Given the description of an element on the screen output the (x, y) to click on. 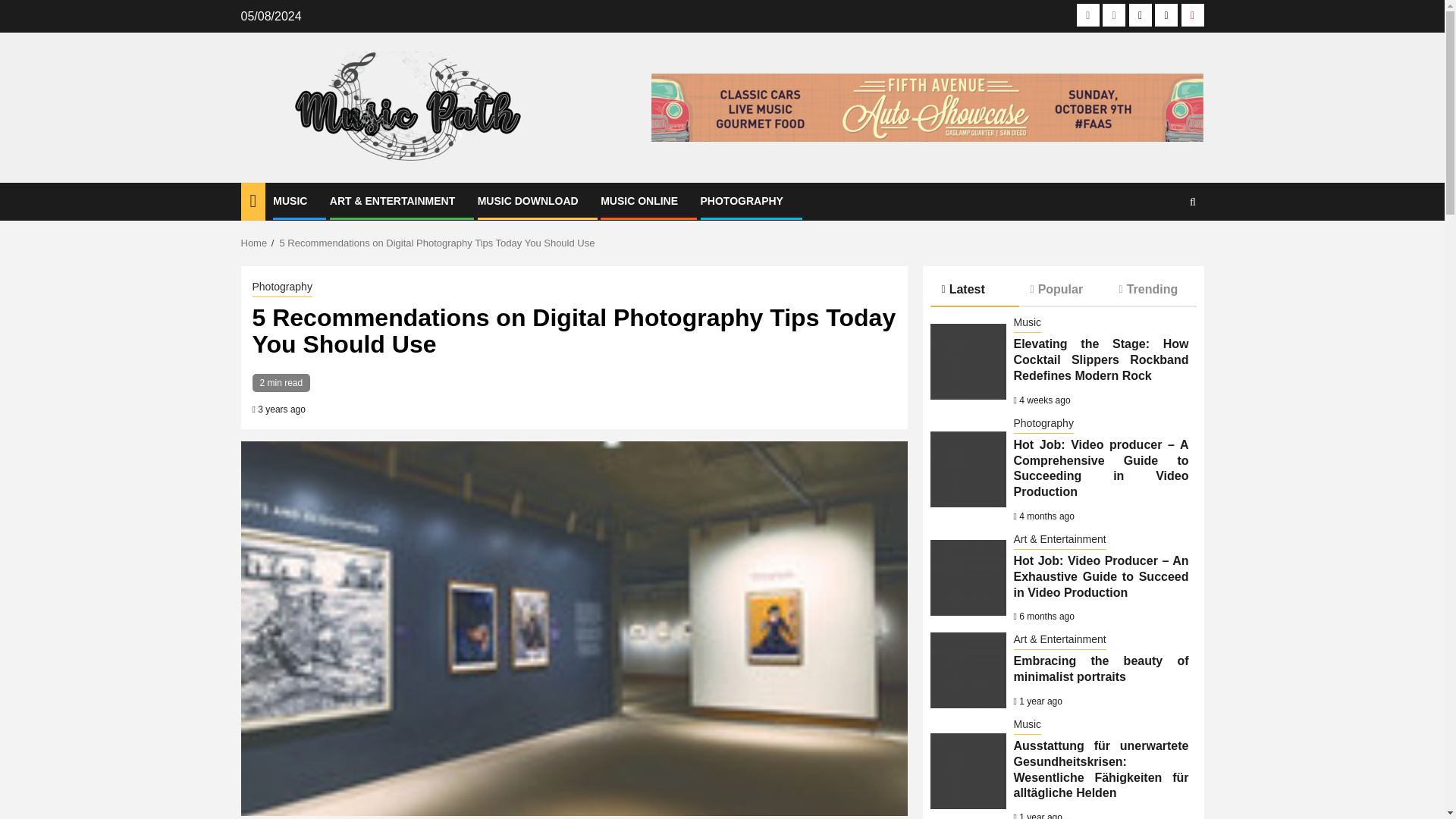
Popular (1063, 288)
Pinterest (1192, 15)
Trending (1150, 288)
MUSIC (290, 200)
Latest (973, 289)
MUSIC DOWNLOAD (527, 200)
Search (1163, 247)
PHOTOGRAPHY (741, 200)
